Given the description of an element on the screen output the (x, y) to click on. 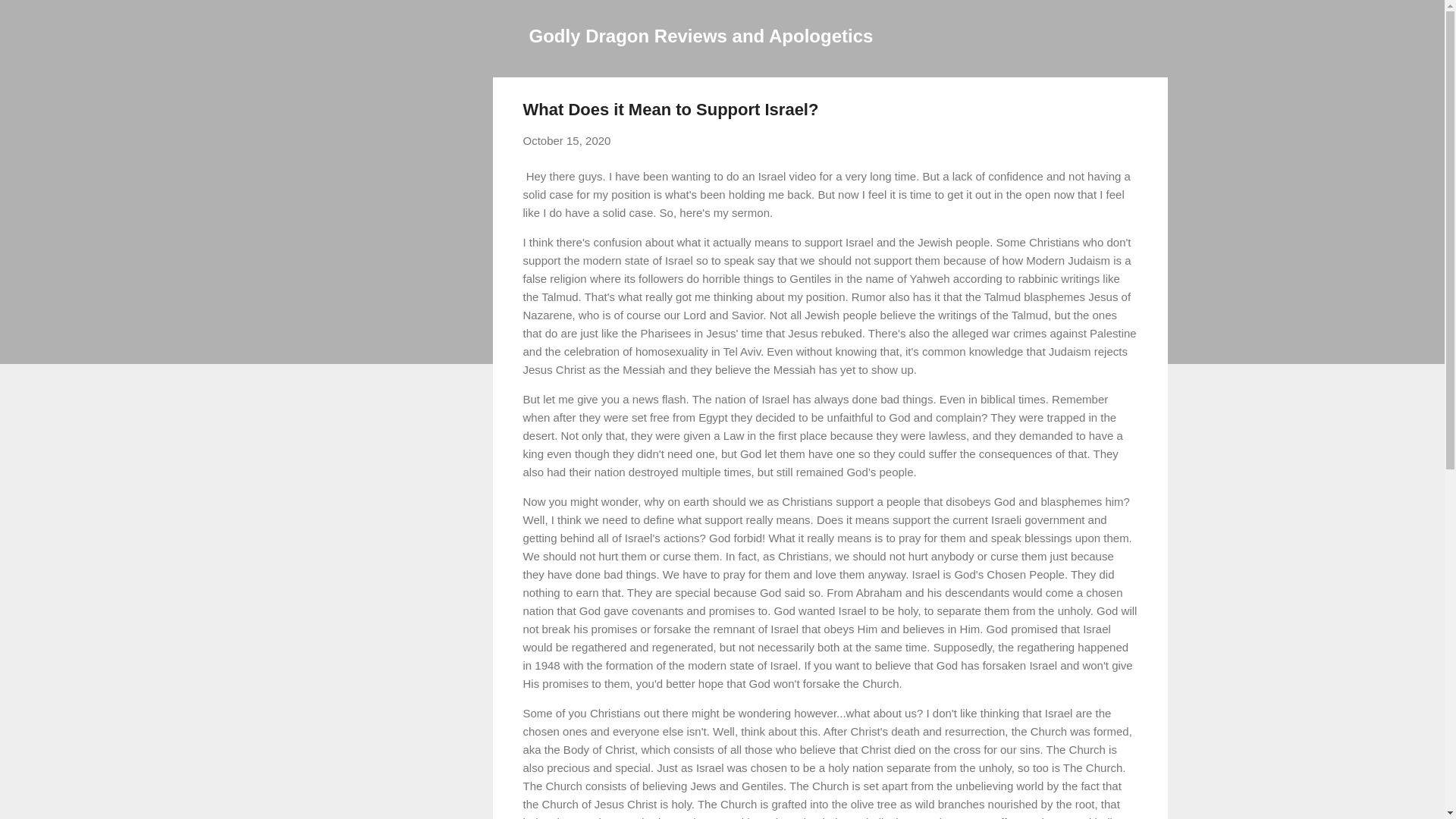
Godly Dragon Reviews and Apologetics (701, 35)
October 15, 2020 (566, 140)
permanent link (566, 140)
Search (29, 18)
